Given the description of an element on the screen output the (x, y) to click on. 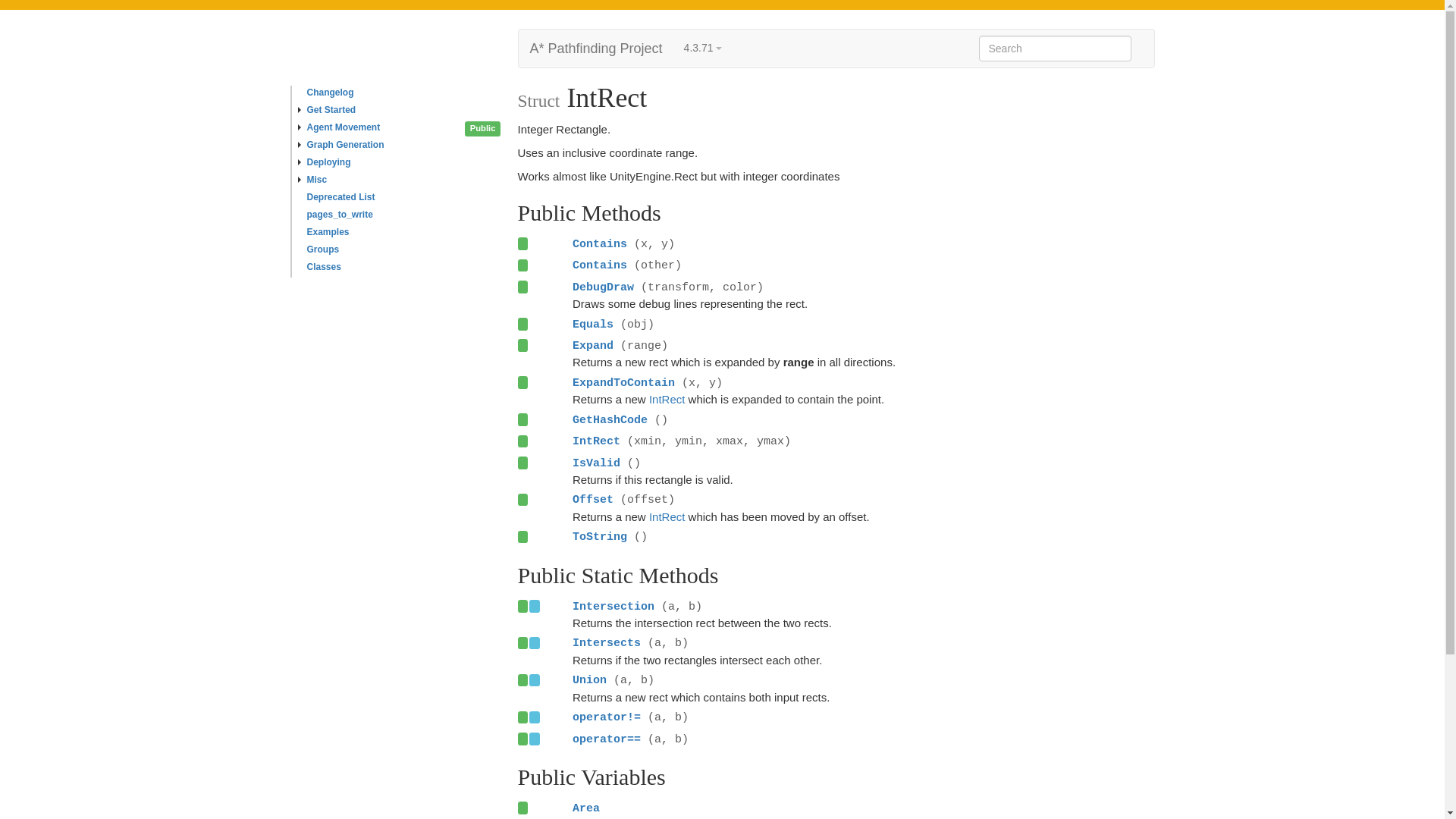
Changelog (402, 94)
Get Started (402, 111)
Deprecated List (402, 199)
Examples (402, 233)
Agent Movement (402, 129)
Graph Generation (402, 146)
4.3.71 (703, 48)
Misc (402, 181)
Groups (402, 251)
Classes (402, 268)
IntRect (667, 399)
Deploying (402, 163)
IntRect (667, 516)
